Given the description of an element on the screen output the (x, y) to click on. 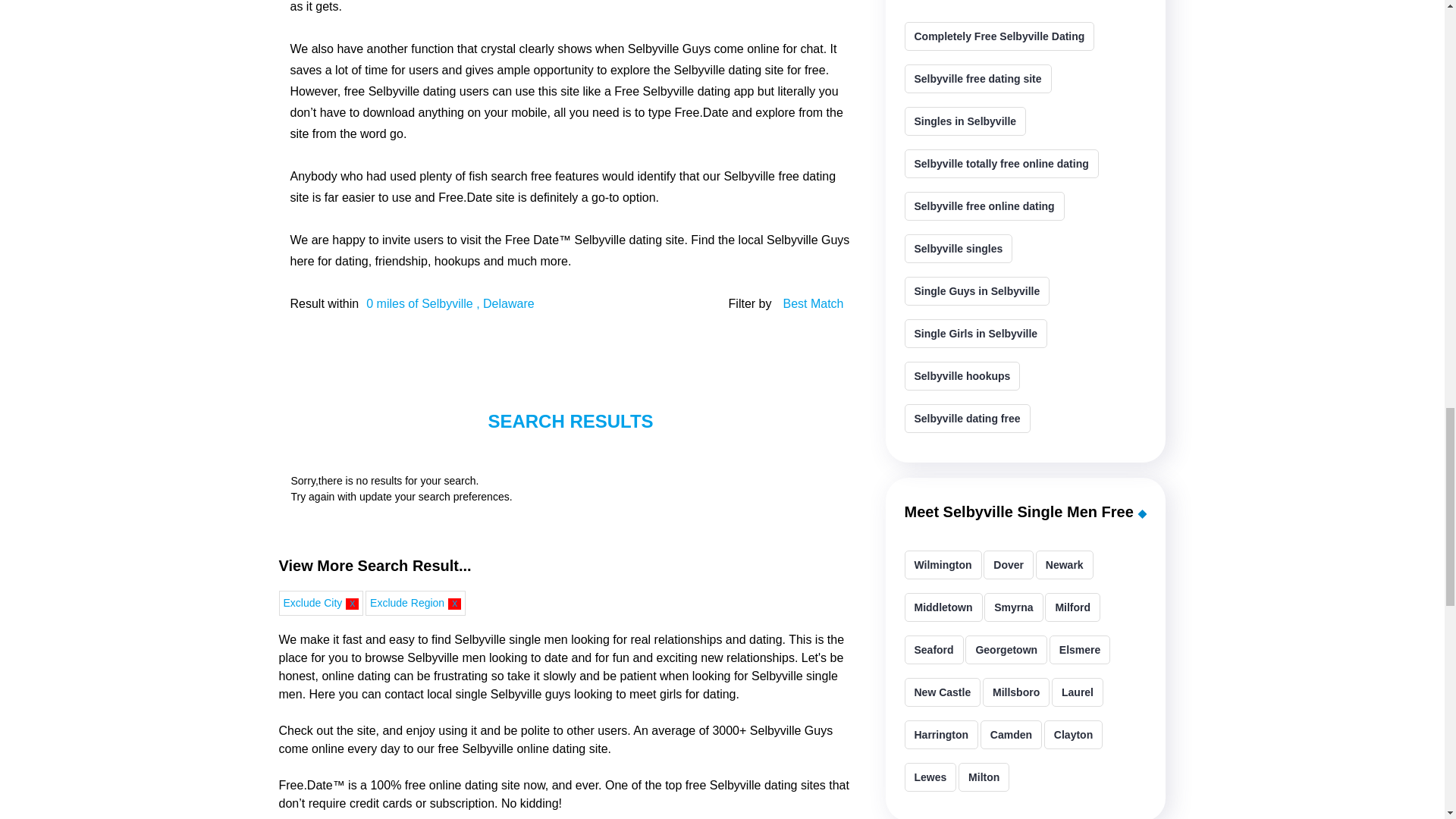
Single Girls in Selbyville (975, 333)
Selbyville totally free online dating (1000, 163)
Single Guys in Selbyville (976, 290)
Selbyville free dating site (977, 78)
Selbyville hookups (962, 375)
x (454, 603)
x (352, 603)
Selbyville free online dating (984, 205)
Completely Free Selbyville Dating (999, 36)
Selbyville dating free (966, 418)
Selbyville singles (957, 248)
Singles in Selbyville (965, 121)
